Given the description of an element on the screen output the (x, y) to click on. 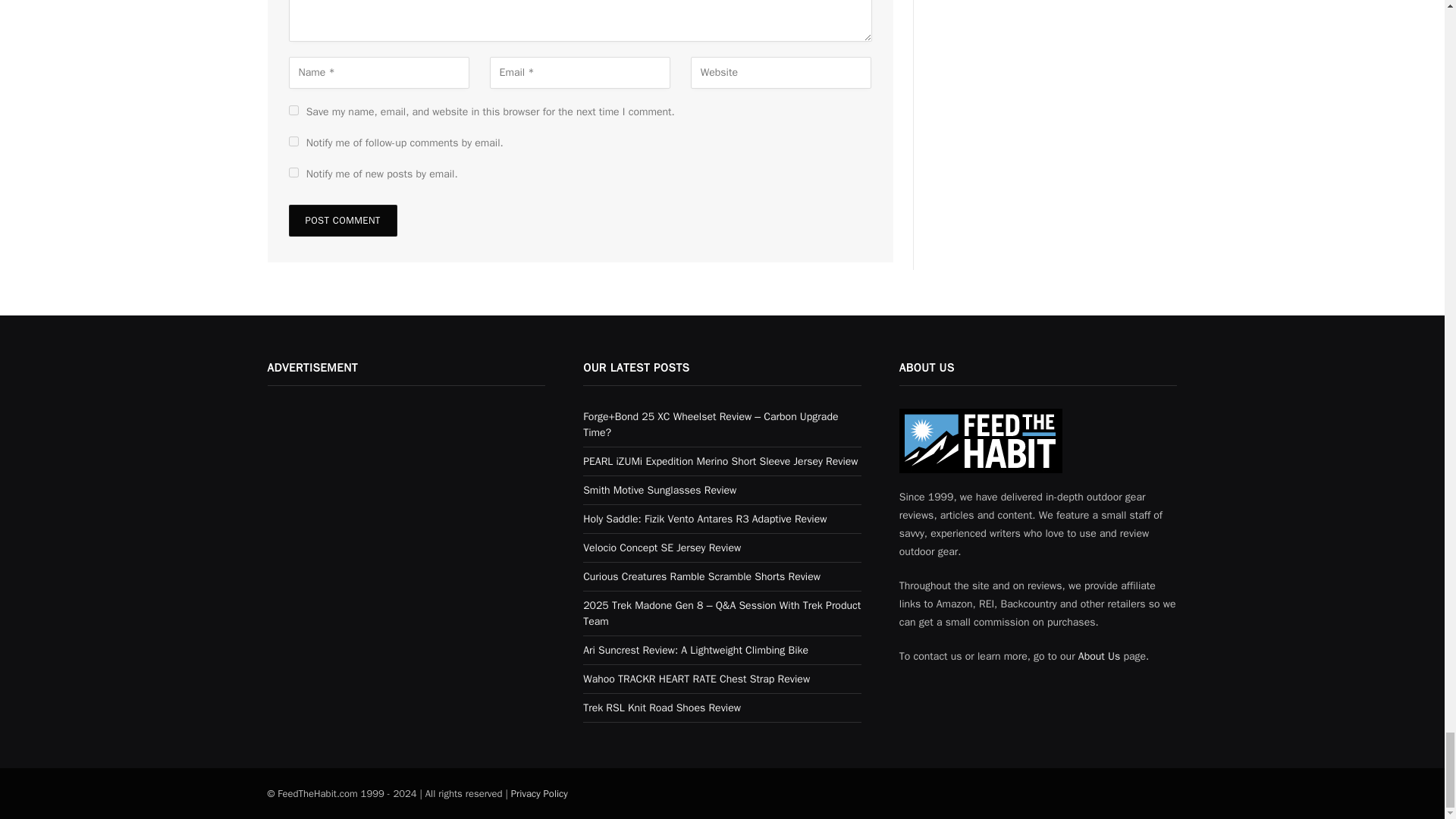
Post Comment (342, 220)
yes (293, 110)
subscribe (293, 141)
subscribe (293, 172)
